Given the description of an element on the screen output the (x, y) to click on. 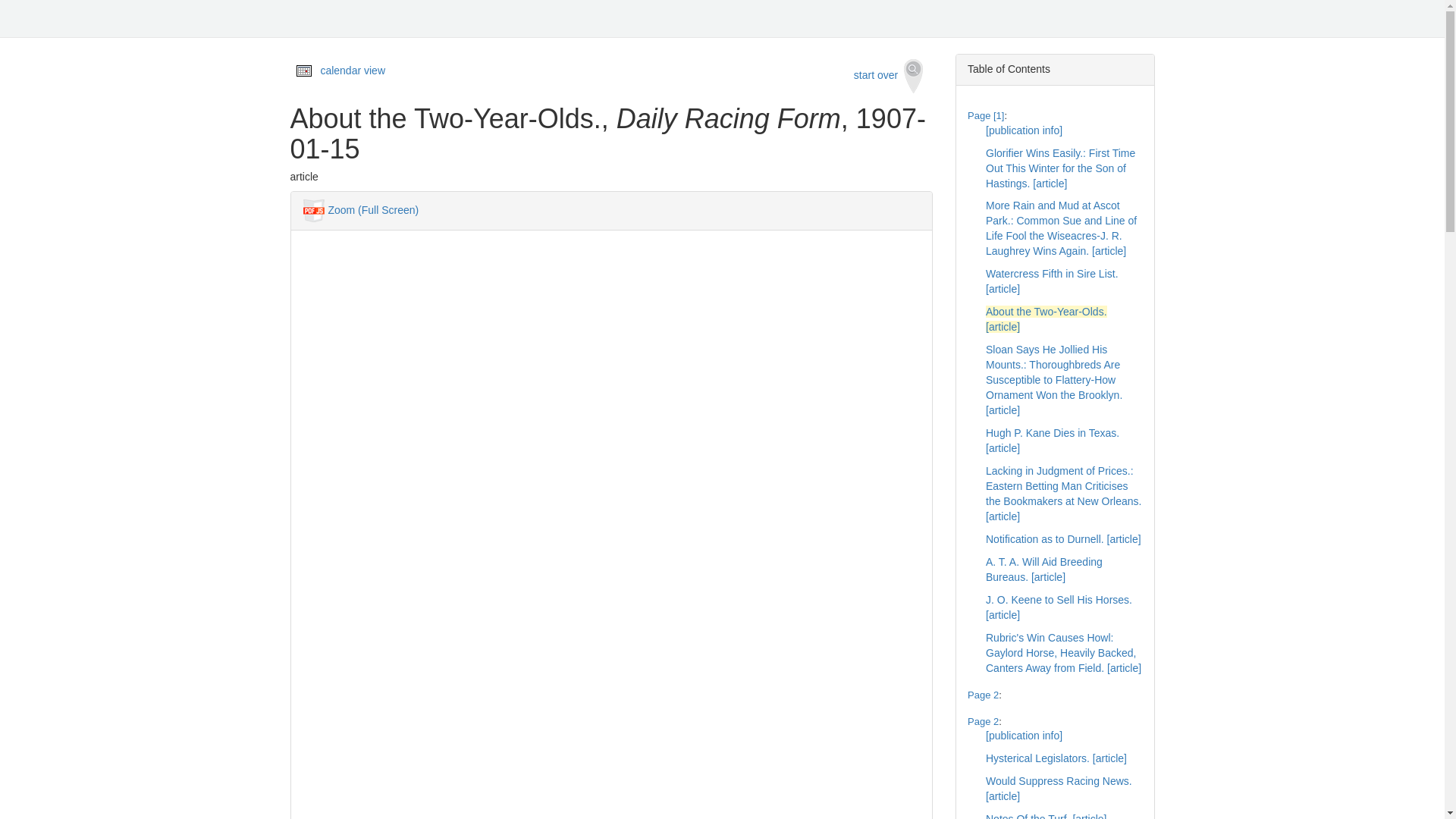
start over   (888, 76)
Page 2 (983, 695)
calendar view (352, 70)
Page 2 (983, 721)
